Given the description of an element on the screen output the (x, y) to click on. 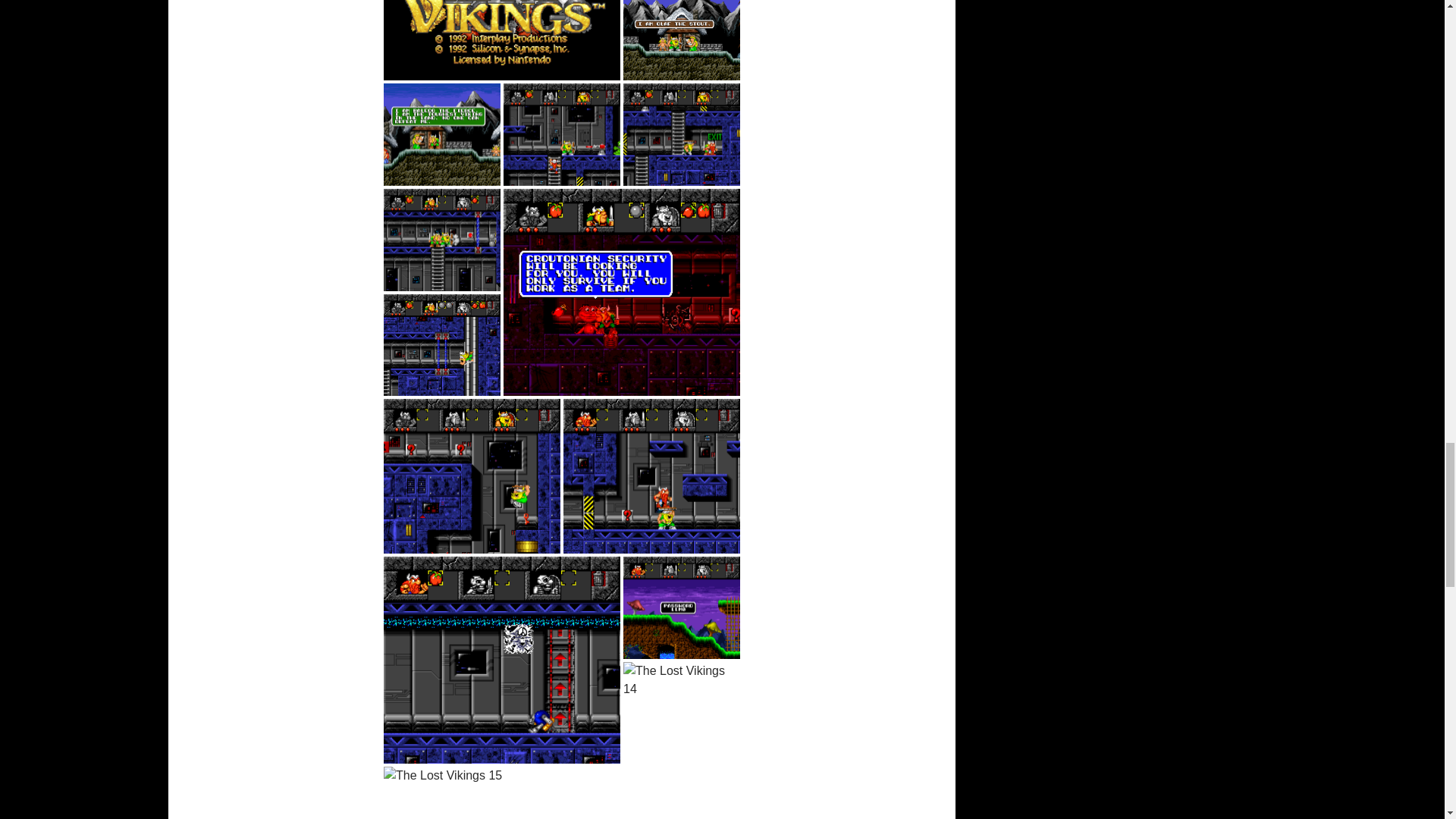
The Lost Vikings 07 (442, 240)
The Lost Vikings 06 (681, 134)
The Lost Vikings 04 (442, 134)
The Lost Vikings 08 (442, 344)
The Lost Vikings 09 (621, 292)
The Lost Vikings 01 (502, 40)
The Lost Vikings 05 (561, 134)
The Lost Vikings 03 (681, 40)
The Lost Vikings 10 (472, 475)
